Given the description of an element on the screen output the (x, y) to click on. 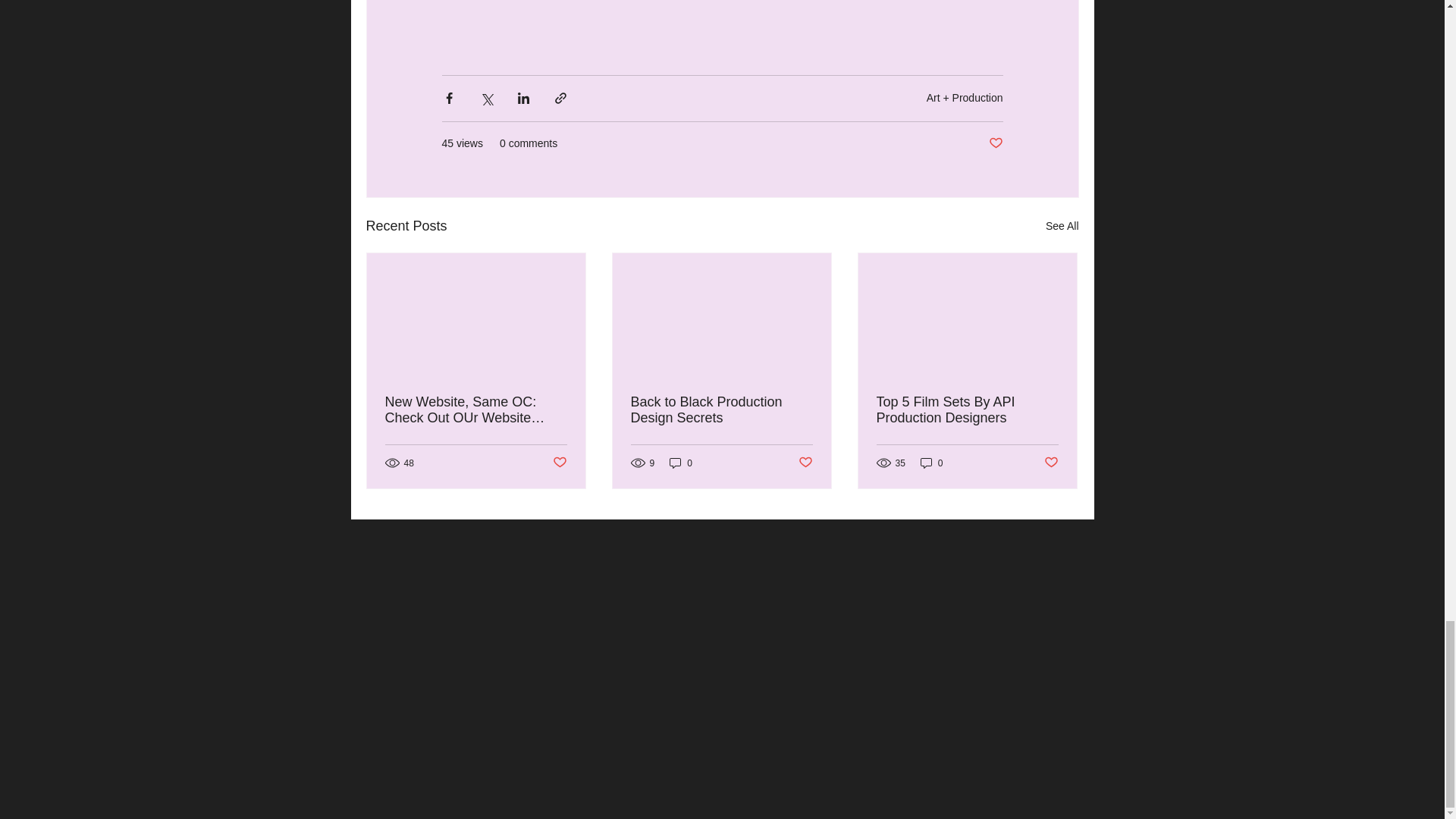
Post not marked as liked (995, 143)
See All (1061, 226)
Post not marked as liked (558, 462)
